Given the description of an element on the screen output the (x, y) to click on. 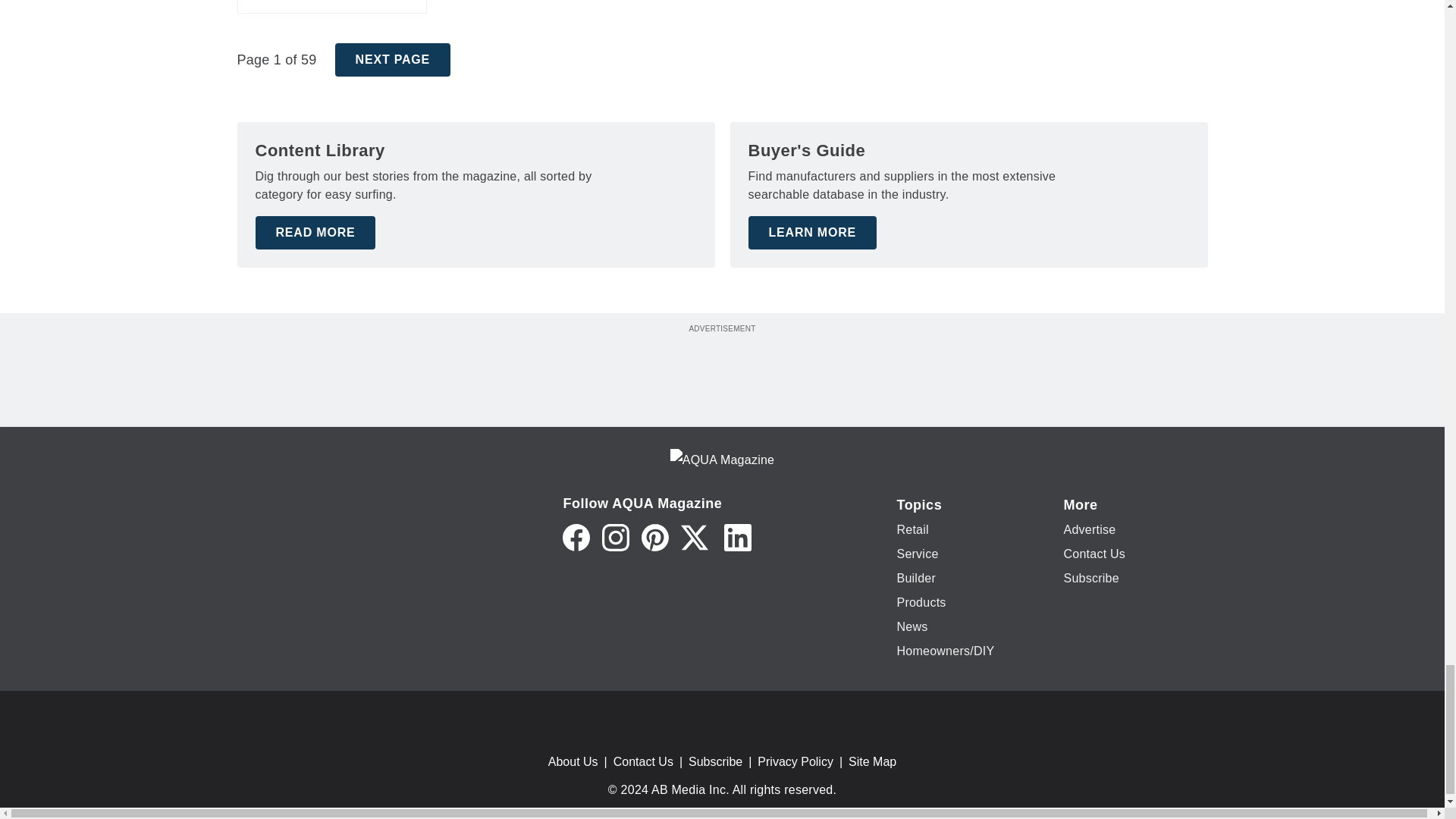
LinkedIn icon (737, 537)
Twitter X icon (694, 537)
Facebook icon (575, 537)
Pinterest icon (655, 537)
Instagram icon (615, 537)
